Given the description of an element on the screen output the (x, y) to click on. 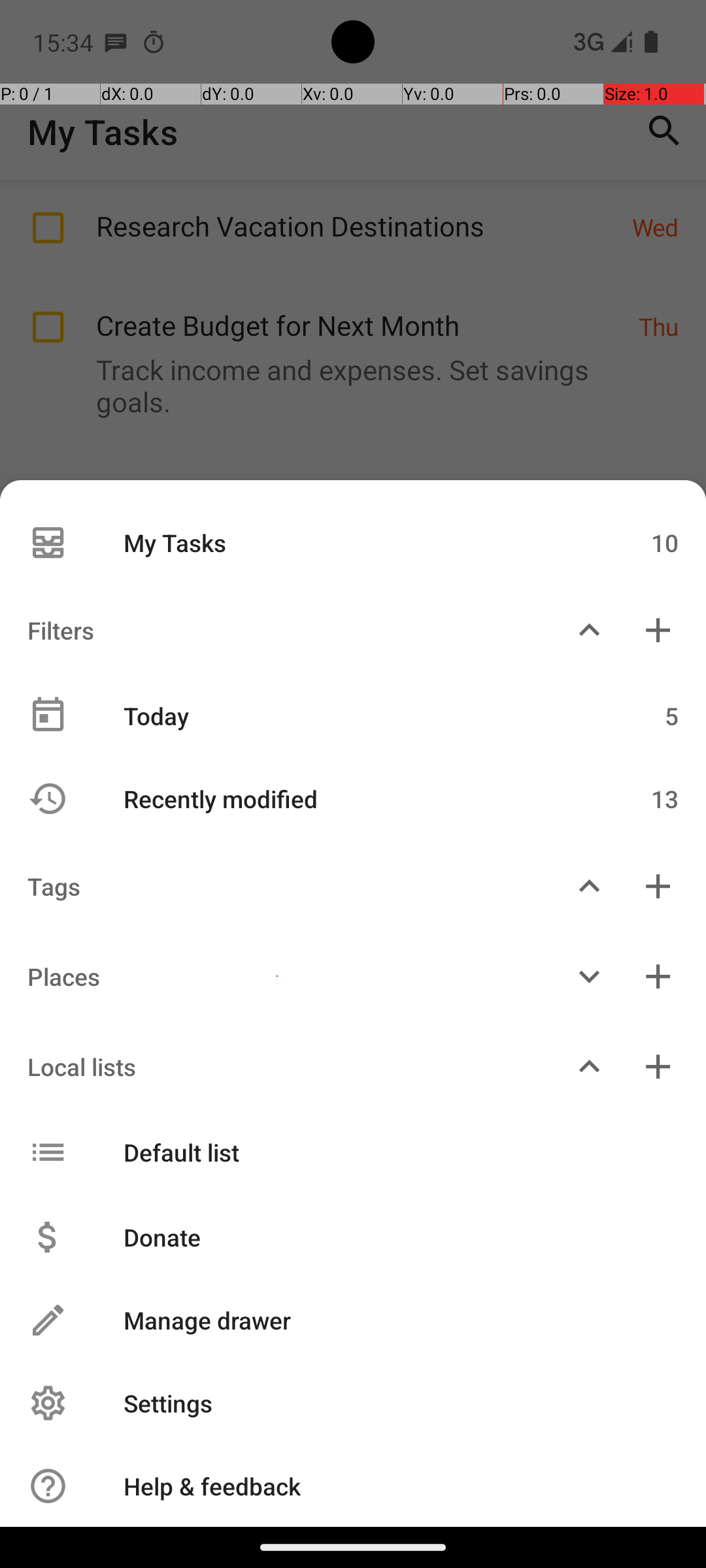
Filters Element type: android.widget.TextView (277, 630)
Recently modified Element type: android.widget.CheckedTextView (344, 798)
Places Element type: android.widget.TextView (277, 976)
Manage drawer Element type: android.widget.TextView (387, 1319)
